Given the description of an element on the screen output the (x, y) to click on. 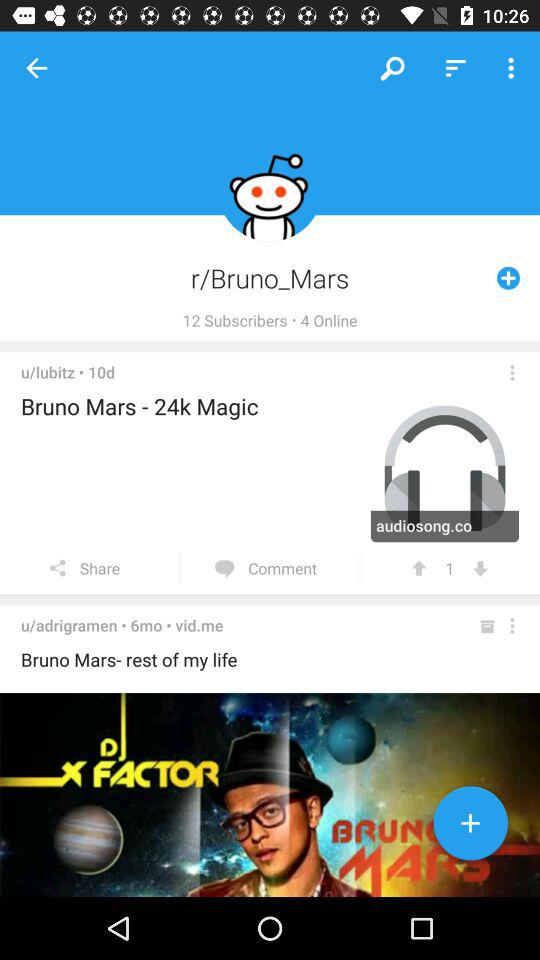
turn off the item next to 1 (480, 568)
